Given the description of an element on the screen output the (x, y) to click on. 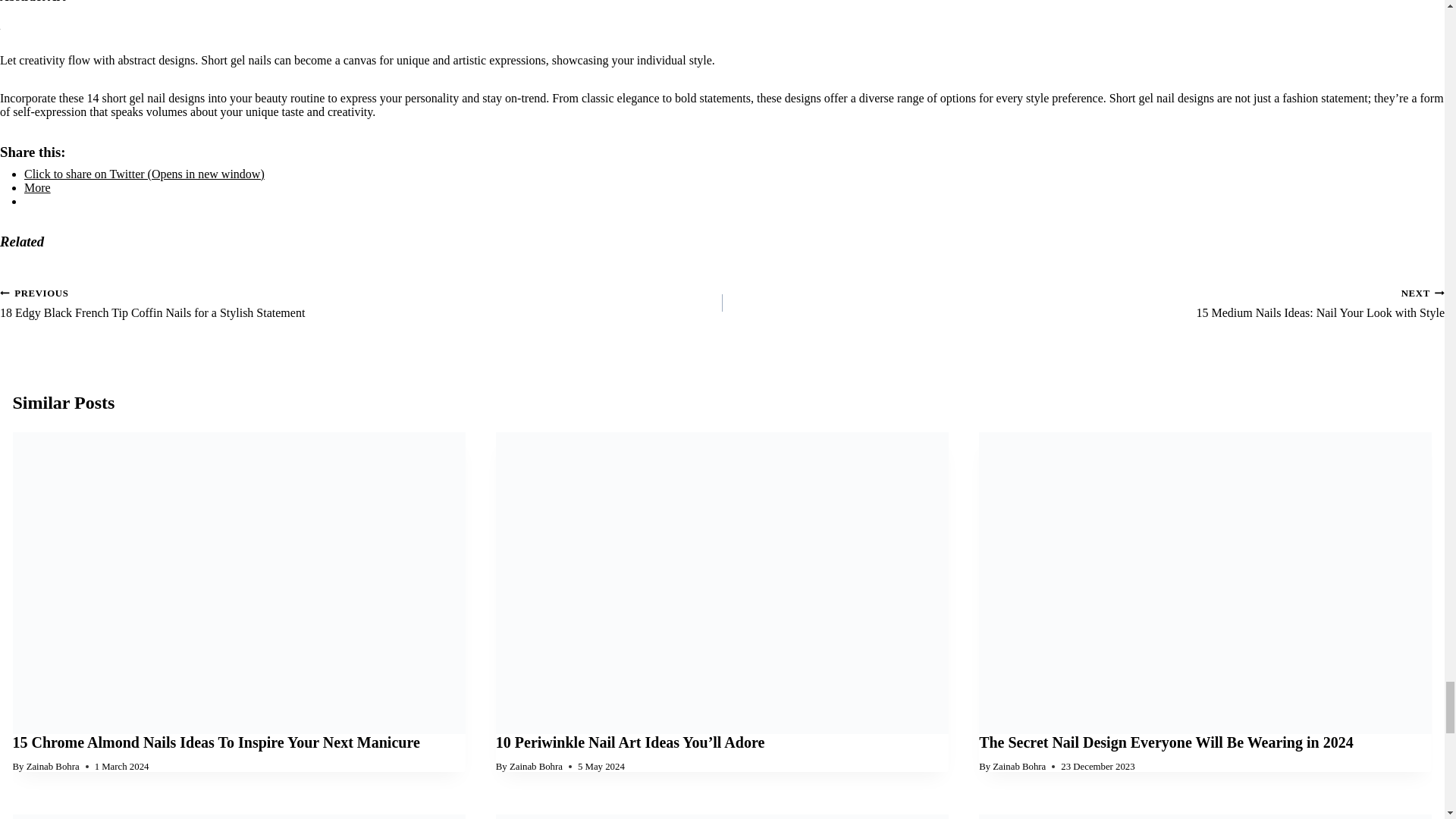
Click to share on Twitter (144, 173)
More (37, 187)
